Given the description of an element on the screen output the (x, y) to click on. 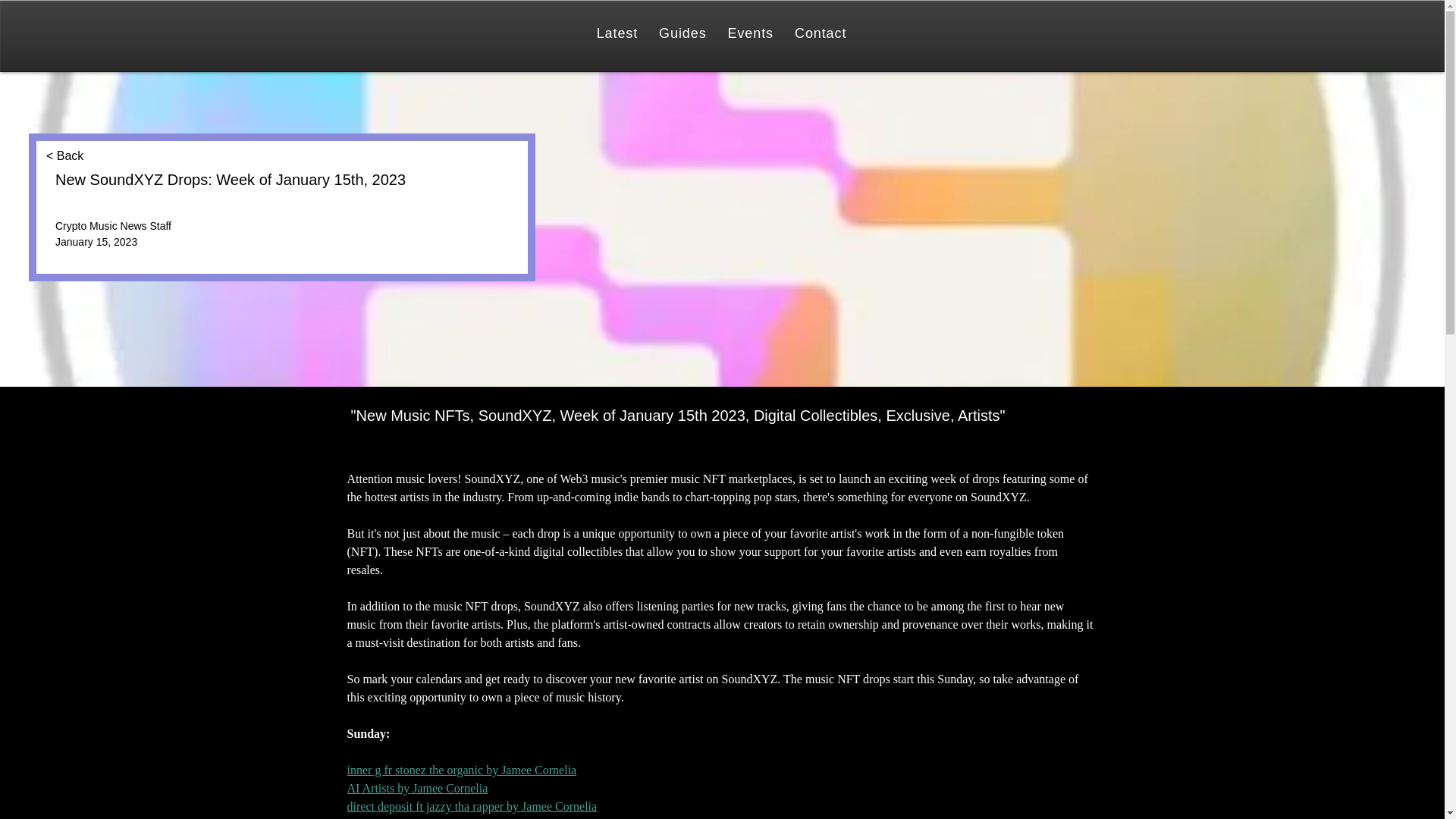
Twitter Follow (84, 256)
Latest (617, 33)
direct deposit ft jazzy tha rapper by Jamee Cornelia (471, 806)
Contact (820, 33)
Guides (681, 33)
AI Artists by Jamee Cornelia (417, 788)
Events (750, 33)
inner g fr stonez the organic by Jamee Cornelia (461, 769)
